Given the description of an element on the screen output the (x, y) to click on. 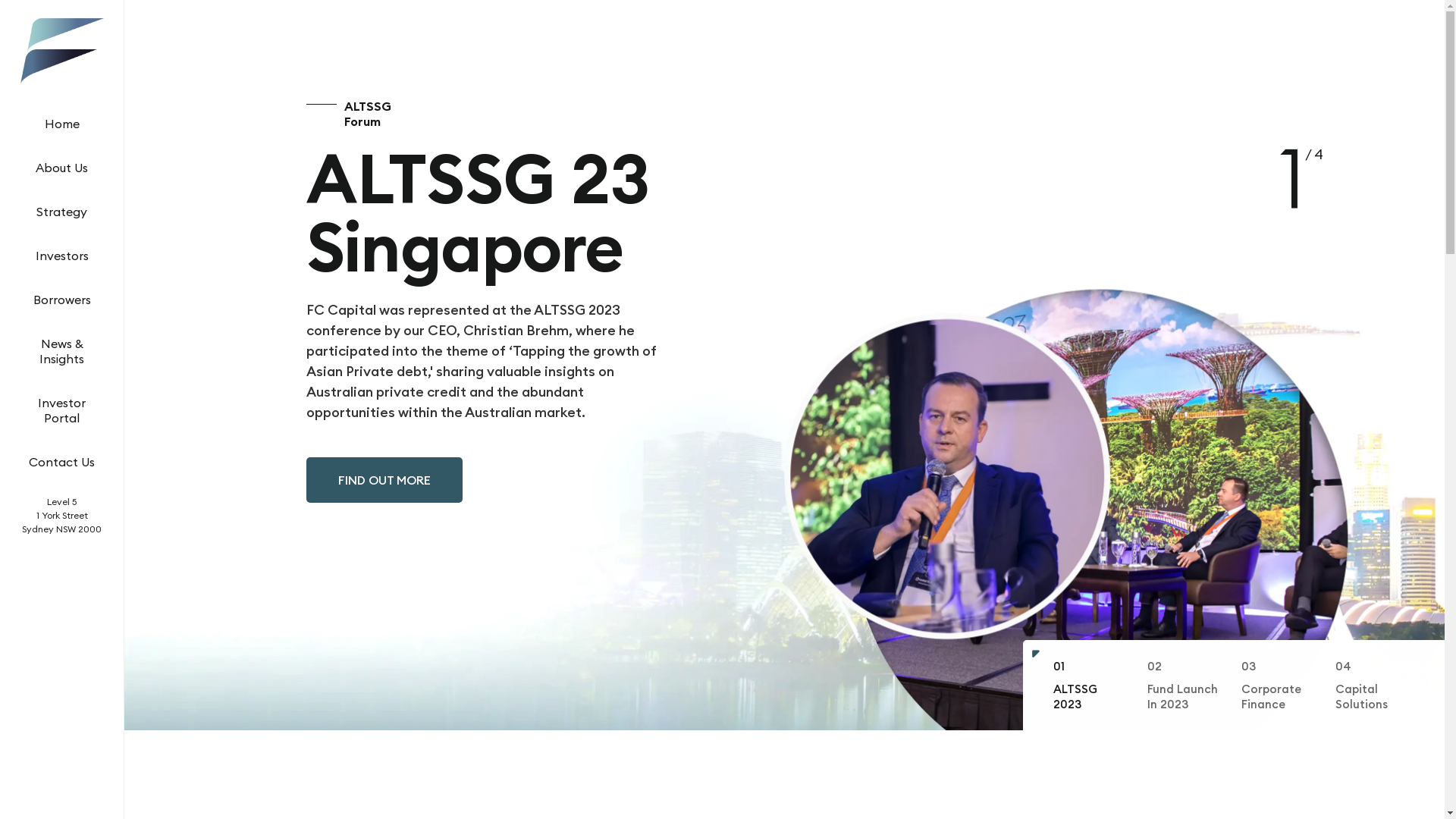
Investors Element type: text (60, 249)
Contact Us Element type: text (61, 455)
Home Element type: text (60, 117)
About Us Element type: text (61, 161)
News &
Insights Element type: text (61, 344)
Strategy Element type: text (61, 205)
Borrowers Element type: text (62, 293)
Investor
Portal Element type: text (61, 403)
FIND OUT MORE Element type: text (384, 479)
